Given the description of an element on the screen output the (x, y) to click on. 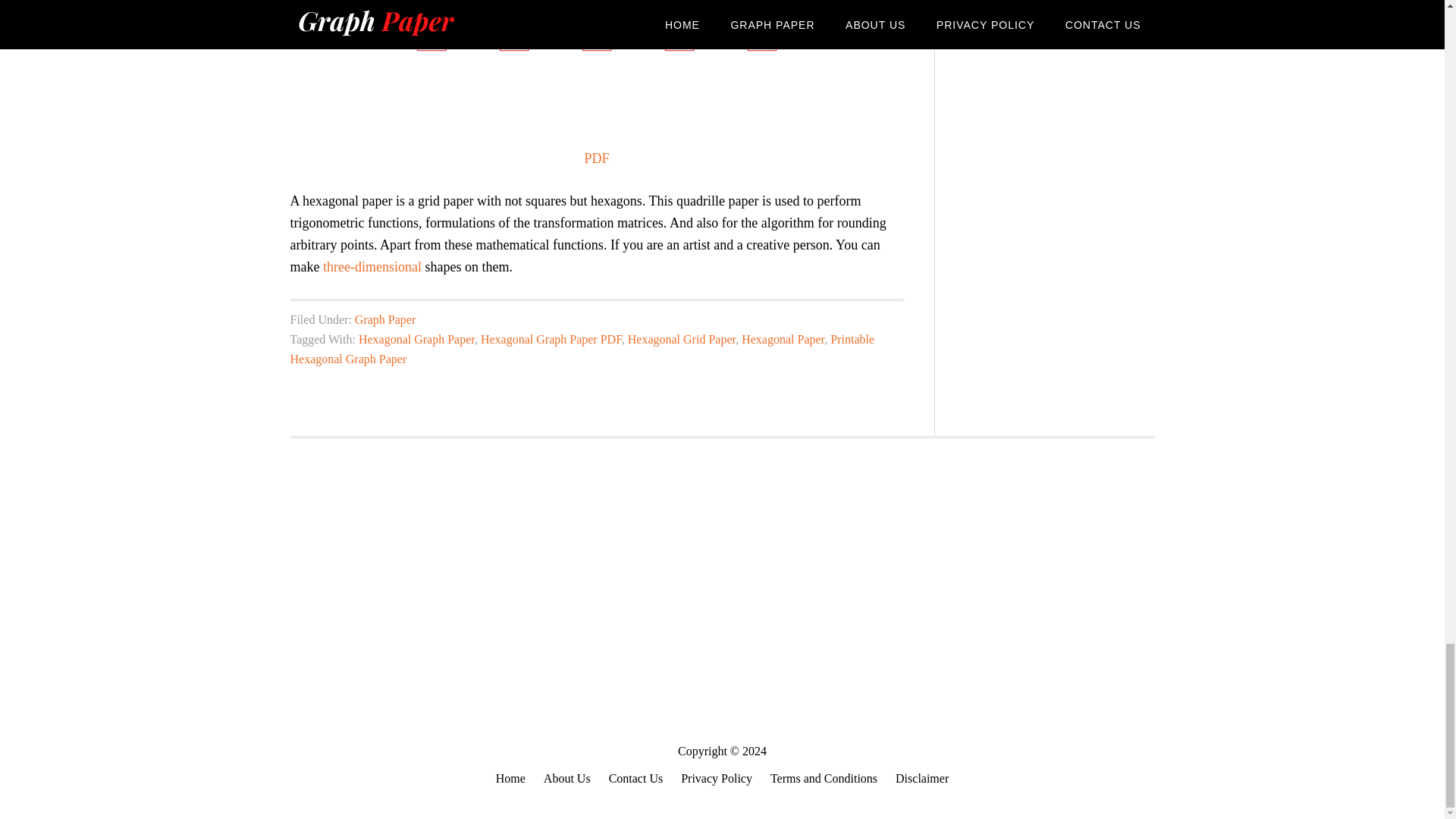
Disclaimer (922, 778)
Hexagonal Graph Paper PDF (550, 338)
Privacy Policy (716, 778)
Hexagonal Grid Paper (681, 338)
three-dimensional (372, 266)
Contact Us (635, 778)
Printable Hexagonal Graph Paper (582, 348)
Hexagonal Paper (782, 338)
Graph Paper (384, 318)
Terms and Conditions (823, 778)
